Given the description of an element on the screen output the (x, y) to click on. 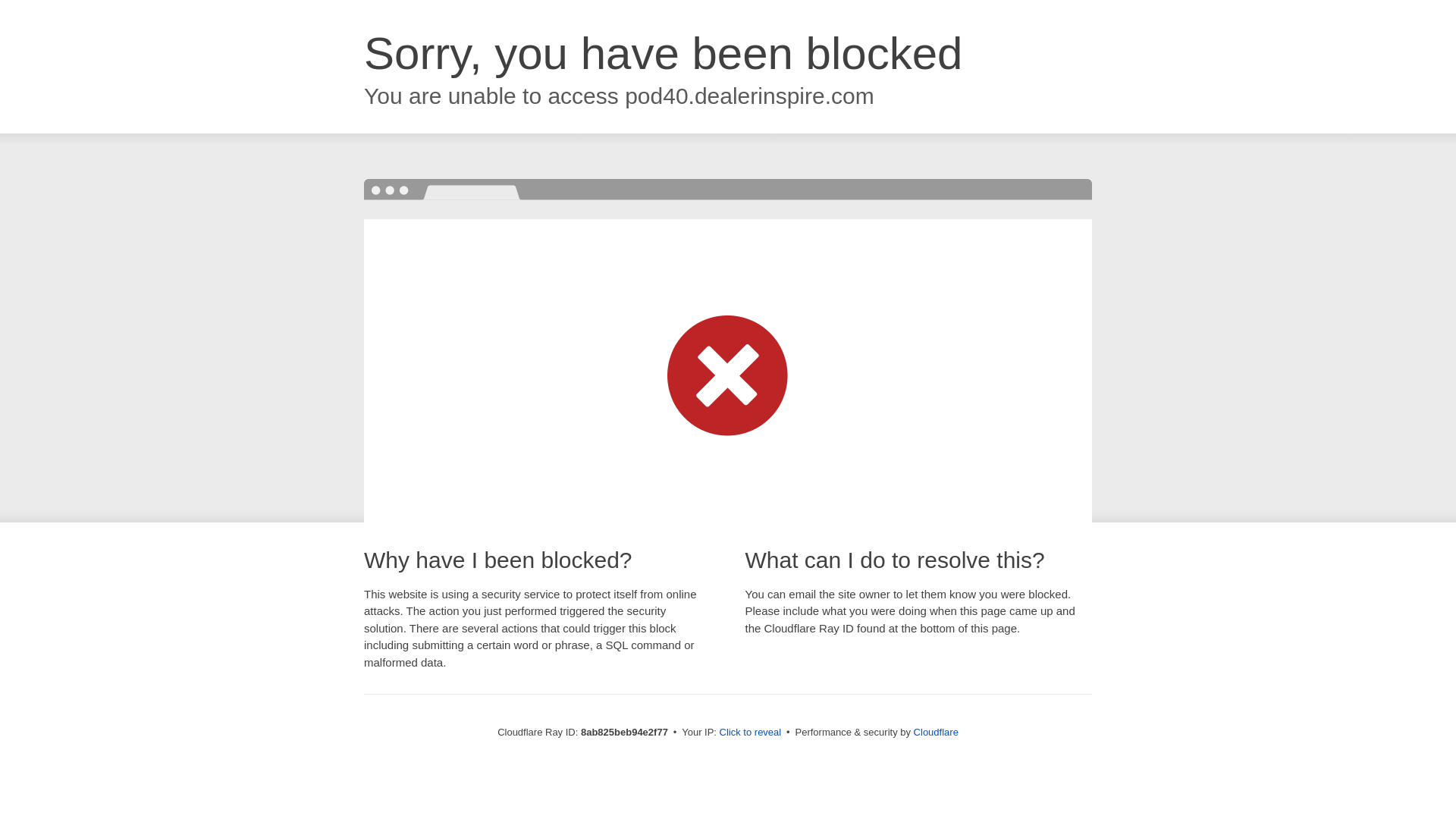
Click to reveal (750, 732)
Cloudflare (936, 731)
